Given the description of an element on the screen output the (x, y) to click on. 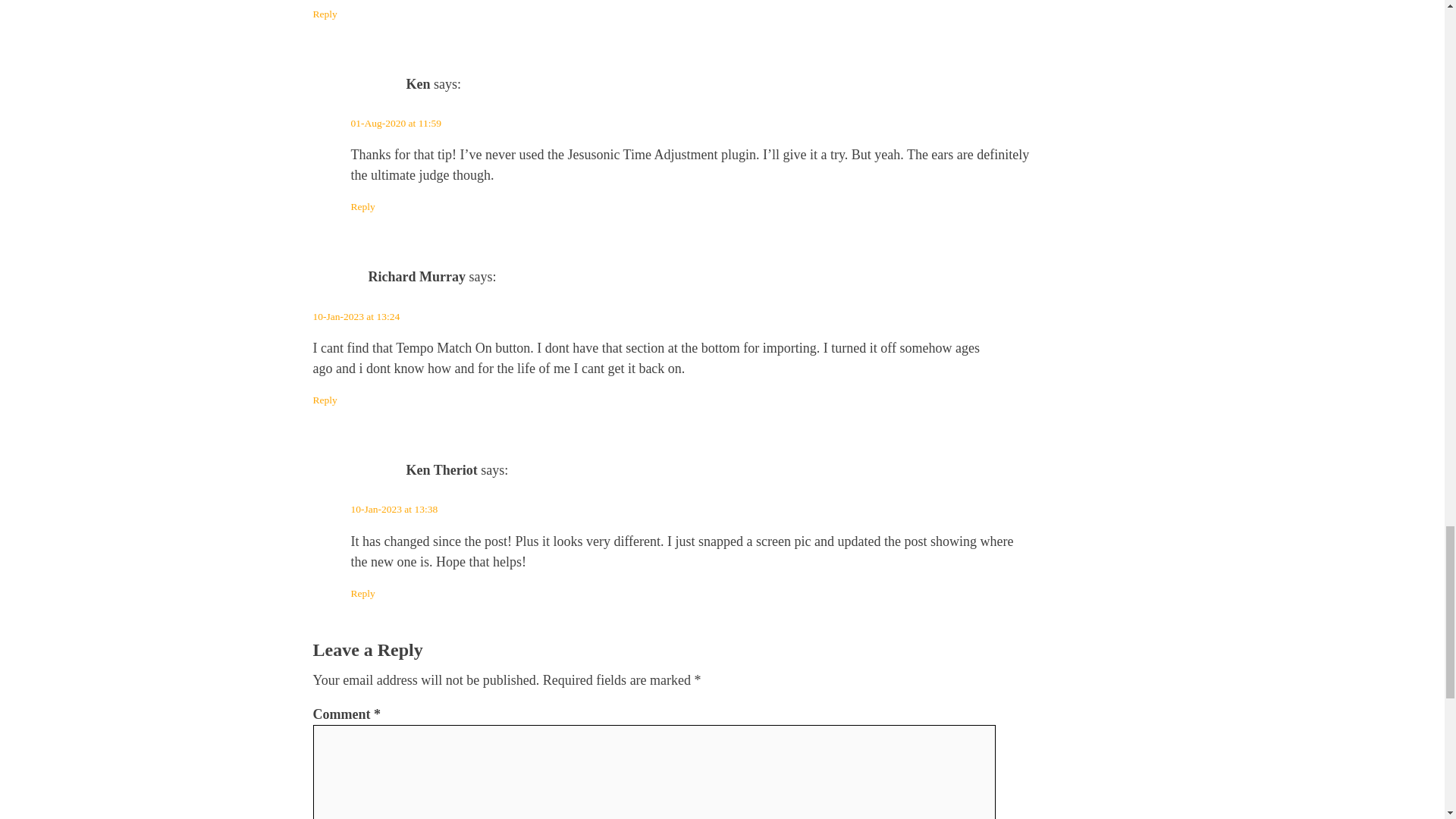
Reply (324, 14)
10-Jan-2023 at 13:24 (355, 316)
10-Jan-2023 at 13:38 (394, 509)
Reply (324, 400)
Reply (362, 593)
01-Aug-2020 at 11:59 (395, 122)
Reply (362, 206)
